Given the description of an element on the screen output the (x, y) to click on. 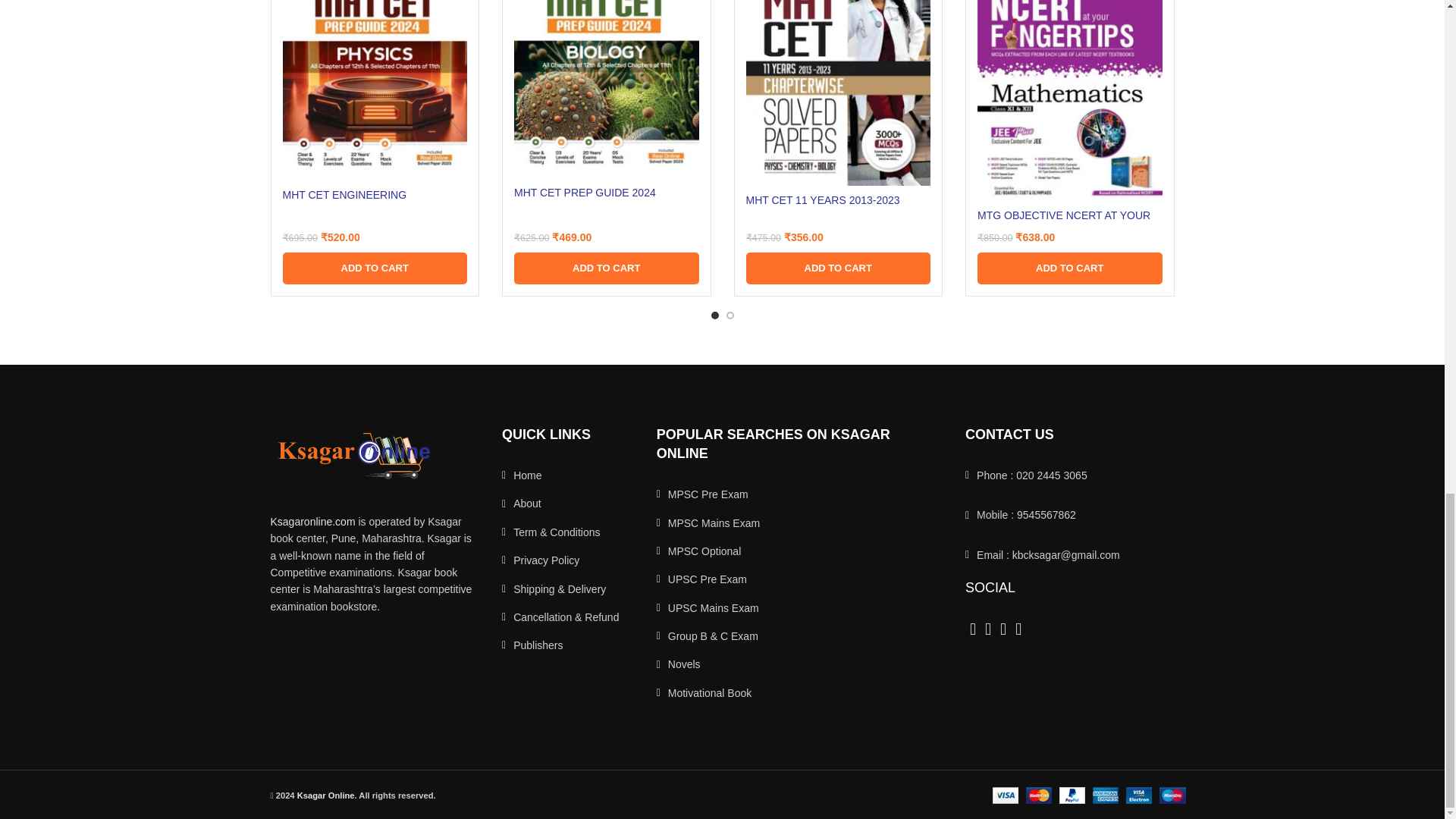
ksagaronline logo (353, 456)
